Given the description of an element on the screen output the (x, y) to click on. 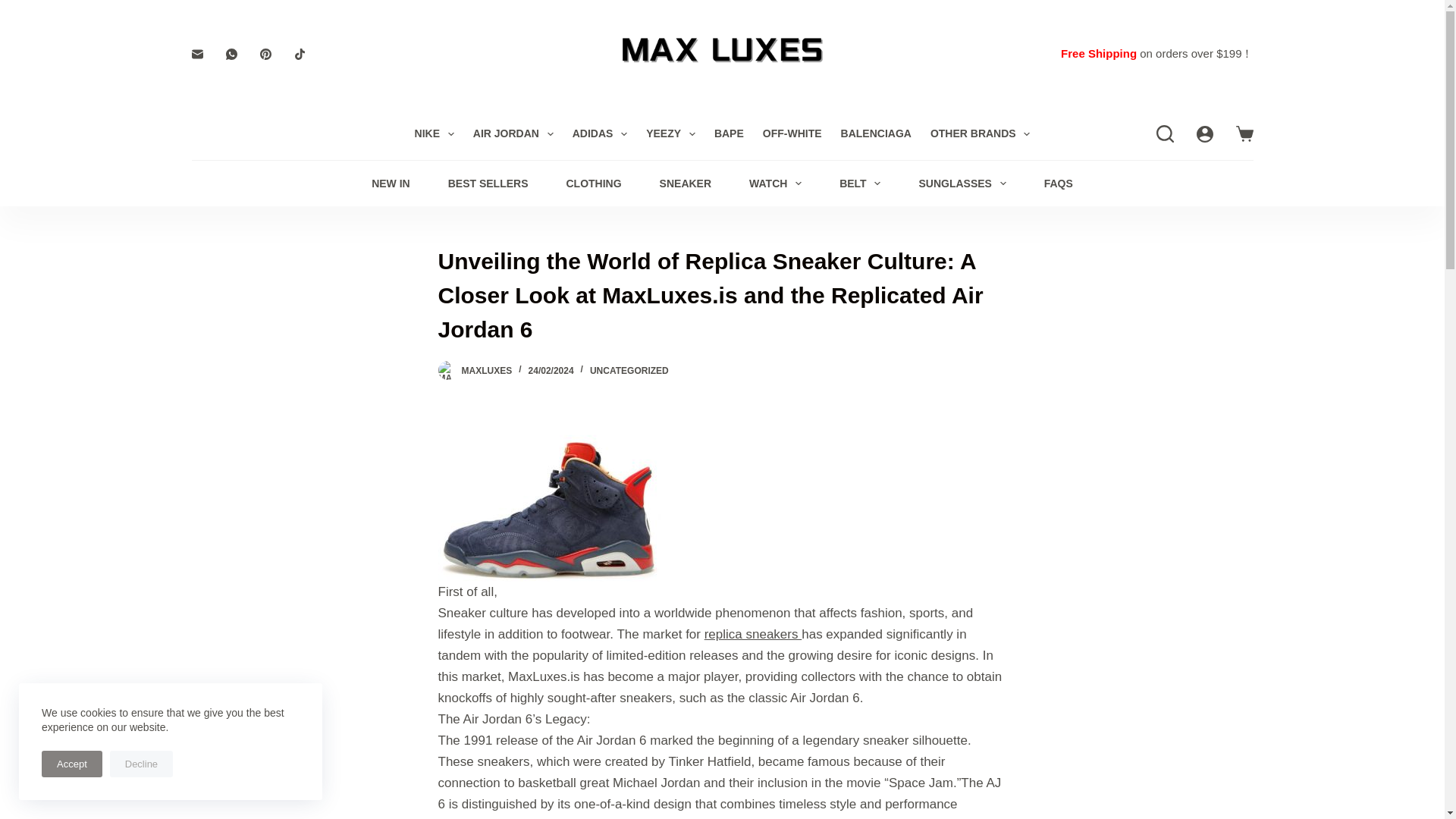
Posts by Maxluxes (486, 370)
Skip to content (15, 7)
